Given the description of an element on the screen output the (x, y) to click on. 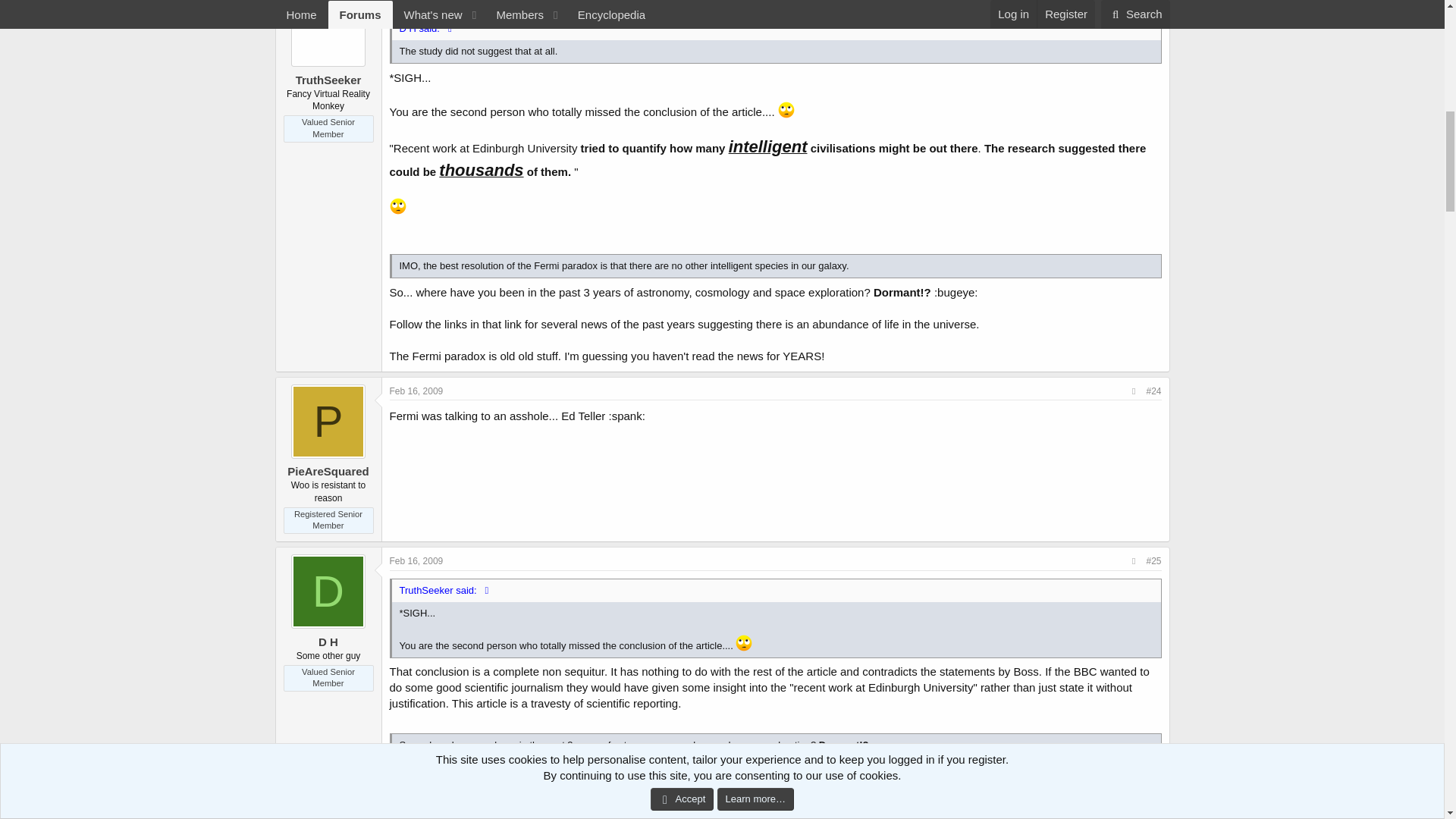
Feb 16, 2009 at 5:28 AM (417, 561)
Roll Eyes    :rolleyes: (785, 109)
Roll Eyes    :rolleyes: (398, 206)
Feb 16, 2009 at 5:11 AM (417, 390)
Roll Eyes    :rolleyes: (743, 642)
Feb 16, 2009 at 5:06 AM (417, 2)
